Given the description of an element on the screen output the (x, y) to click on. 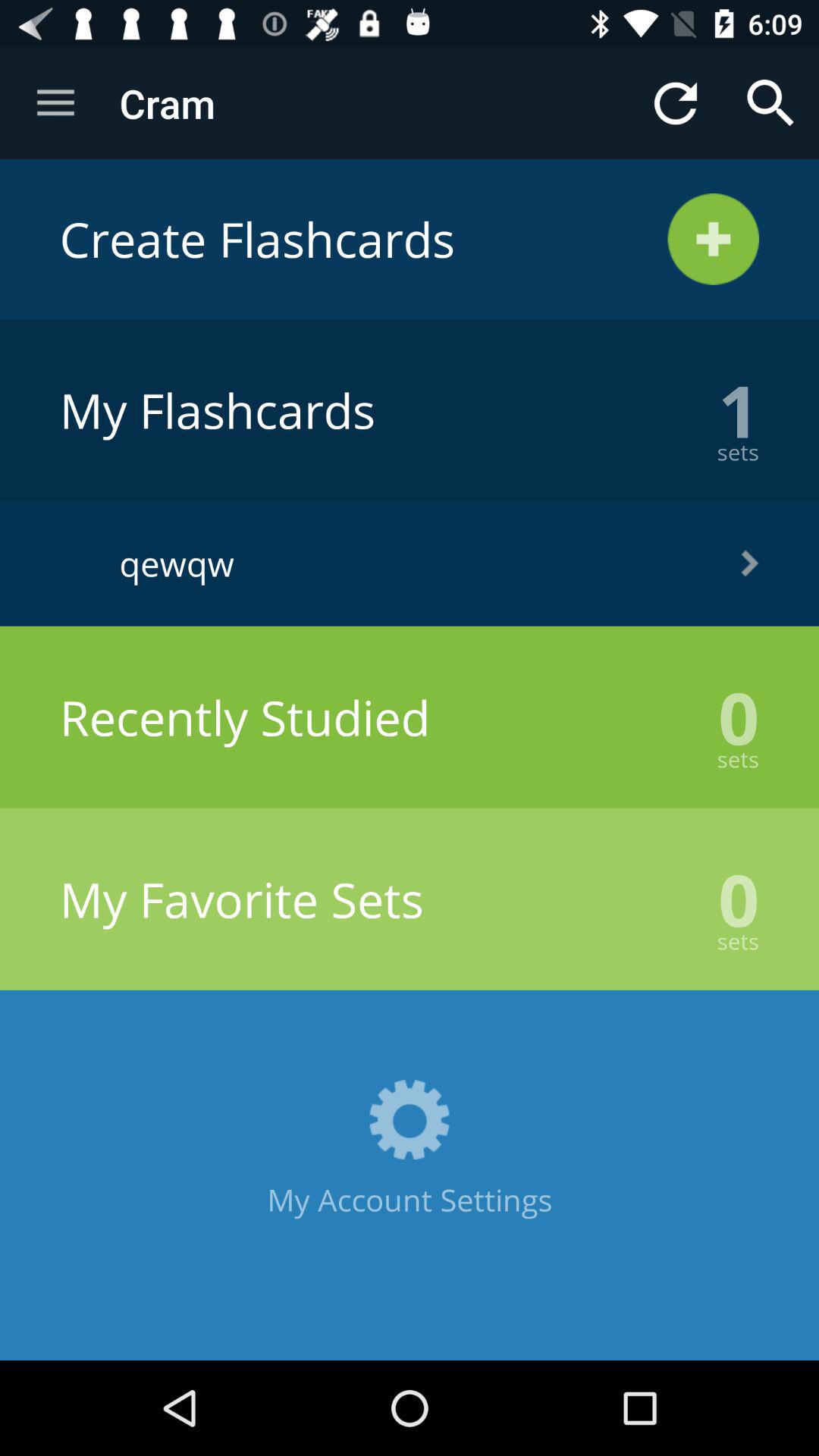
choose item above the create flashcards (771, 103)
